Given the description of an element on the screen output the (x, y) to click on. 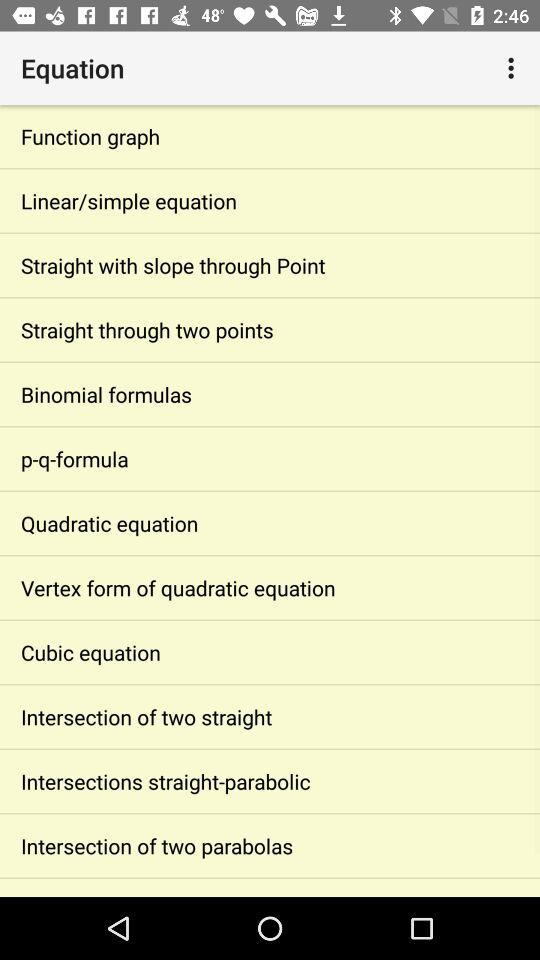
turn on item below the function graph app (270, 200)
